Given the description of an element on the screen output the (x, y) to click on. 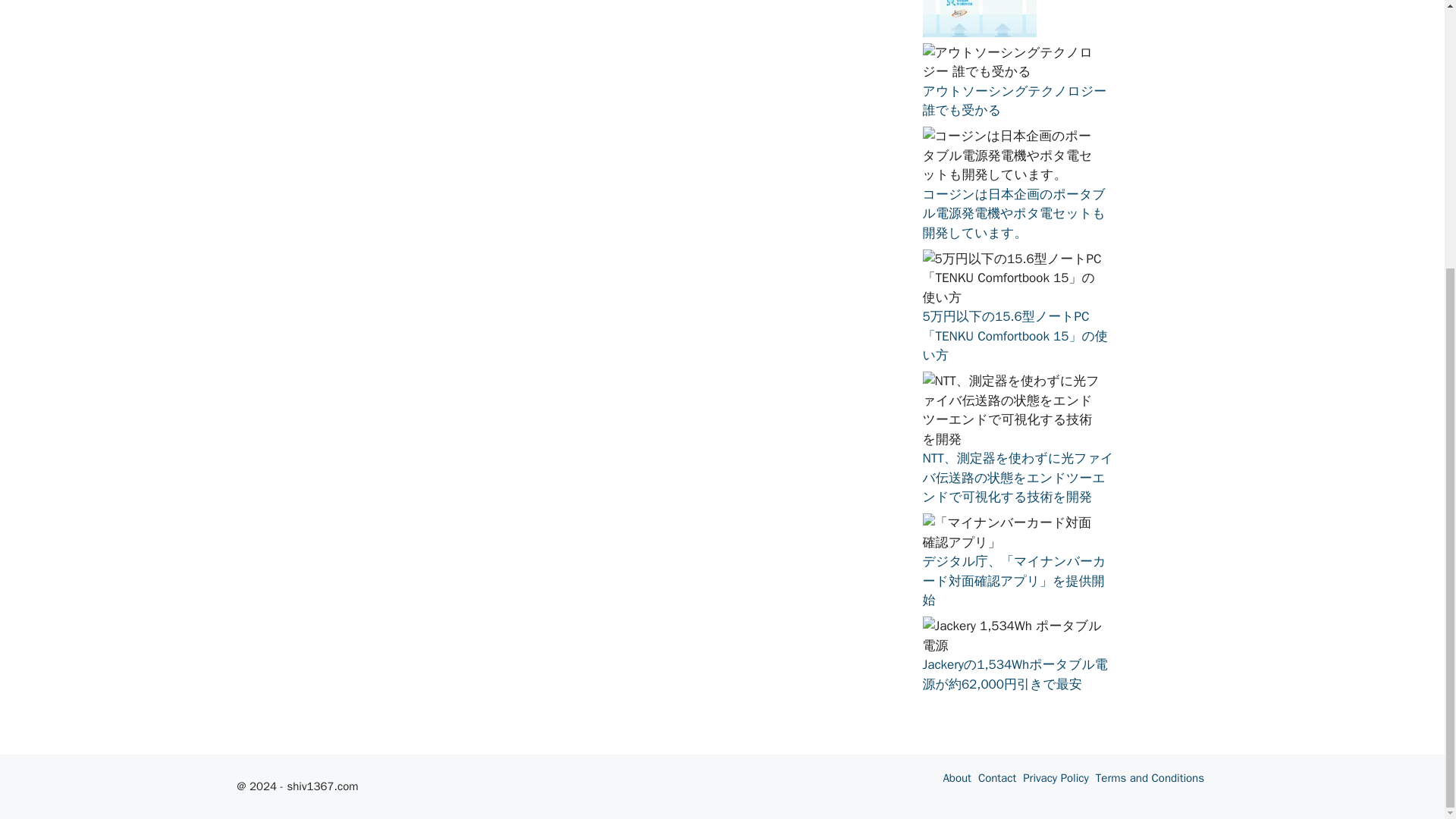
About (956, 777)
Contact (997, 777)
Privacy Policy (1056, 777)
Terms and Conditions (1150, 777)
